Given the description of an element on the screen output the (x, y) to click on. 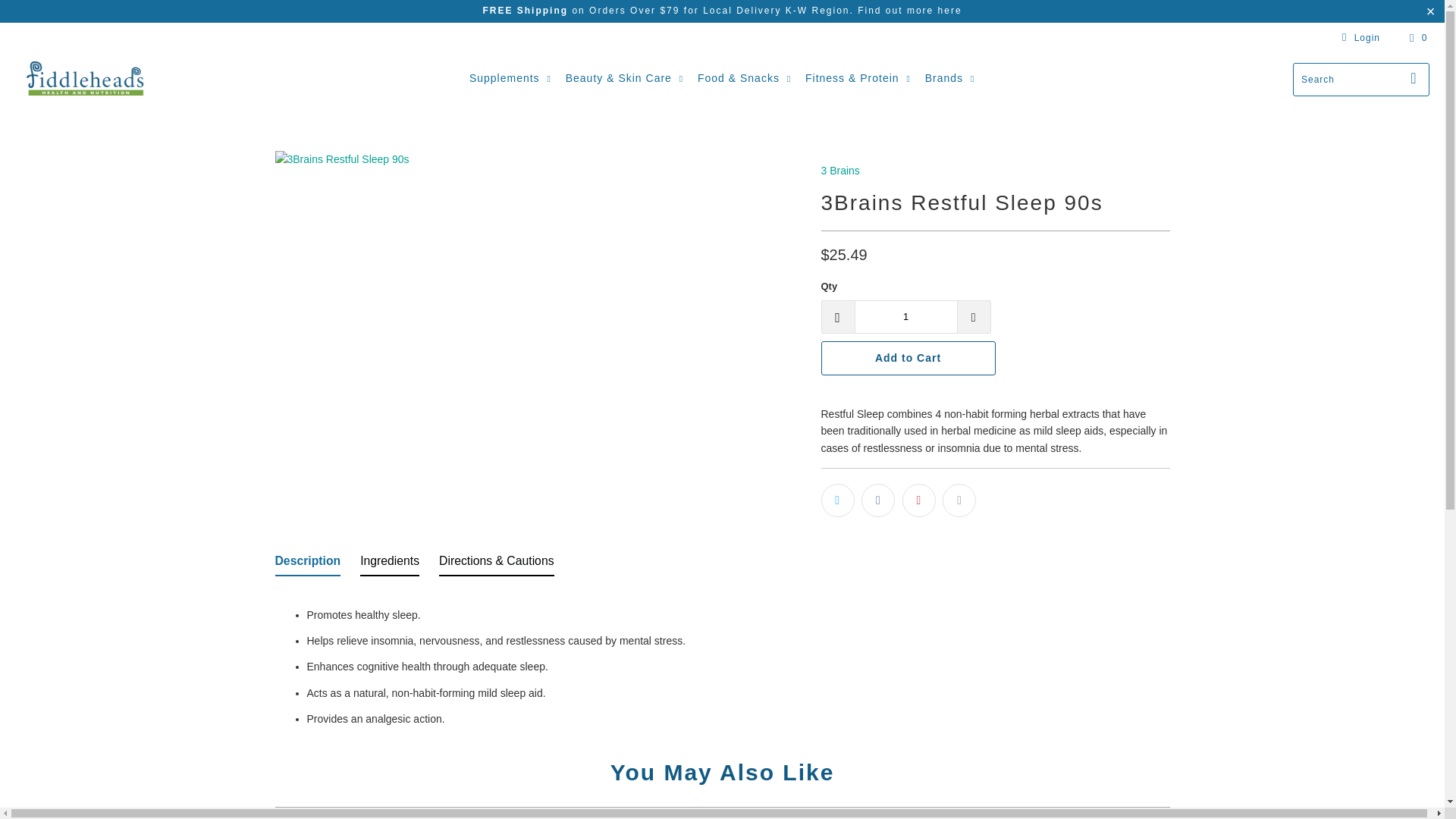
1 (904, 316)
Fiddleheads Health and Nutrition (84, 78)
Email this to a friend (958, 500)
Share this on Facebook (878, 500)
My Account  (1358, 37)
Share this on Pinterest (919, 500)
Share this on Twitter (837, 500)
